Given the description of an element on the screen output the (x, y) to click on. 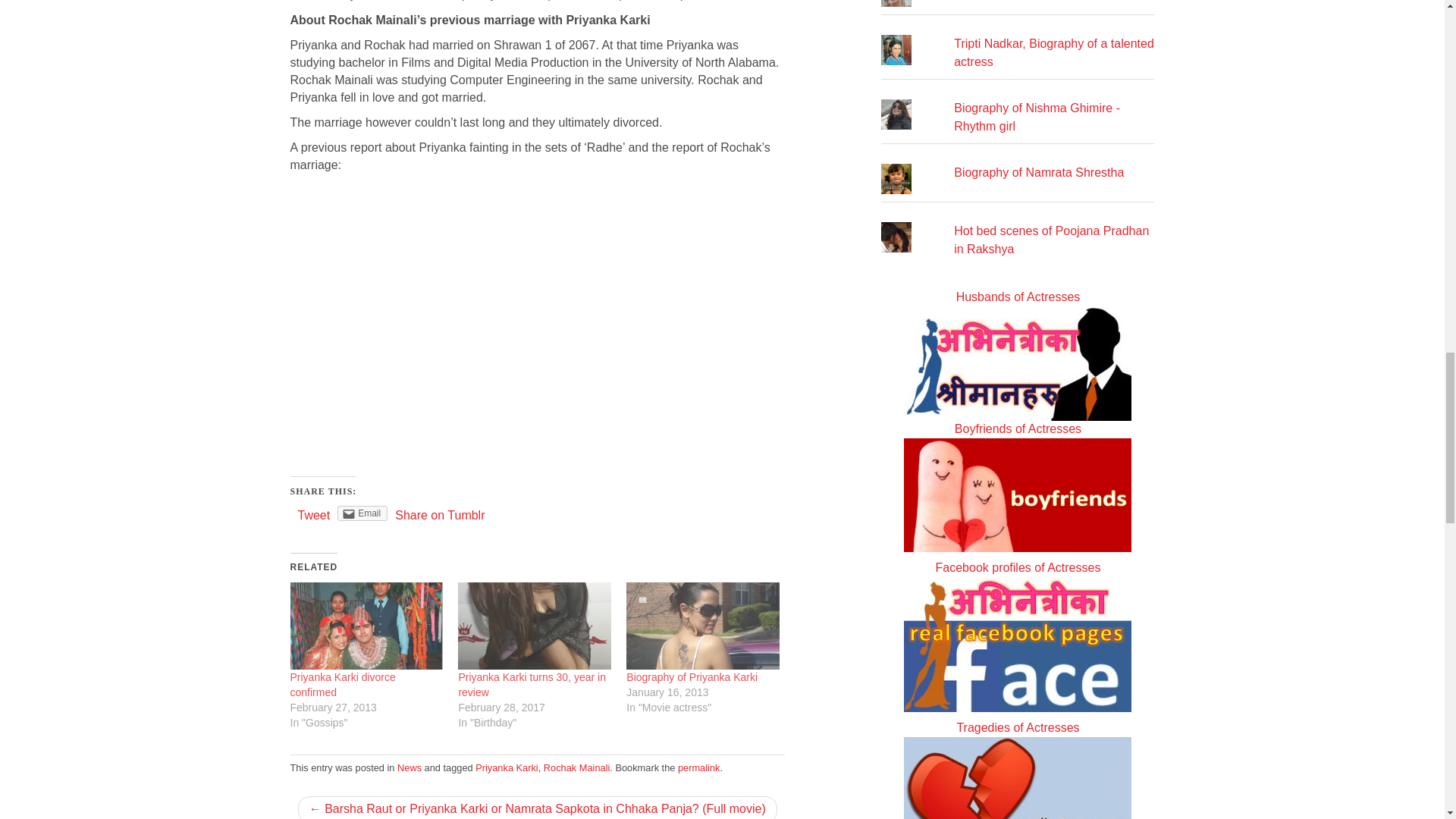
Biography of Priyanka Karki (691, 676)
Priyanka Karki divorce confirmed (341, 684)
Priyanka Karki turns 30, year in review (531, 684)
Priyanka Karki (507, 767)
Share on Tumblr (439, 514)
Click to email a link to a friend (362, 513)
Email (362, 513)
permalink (698, 767)
News (409, 767)
Tweet (313, 514)
Rochak Mainali (576, 767)
